Given the description of an element on the screen output the (x, y) to click on. 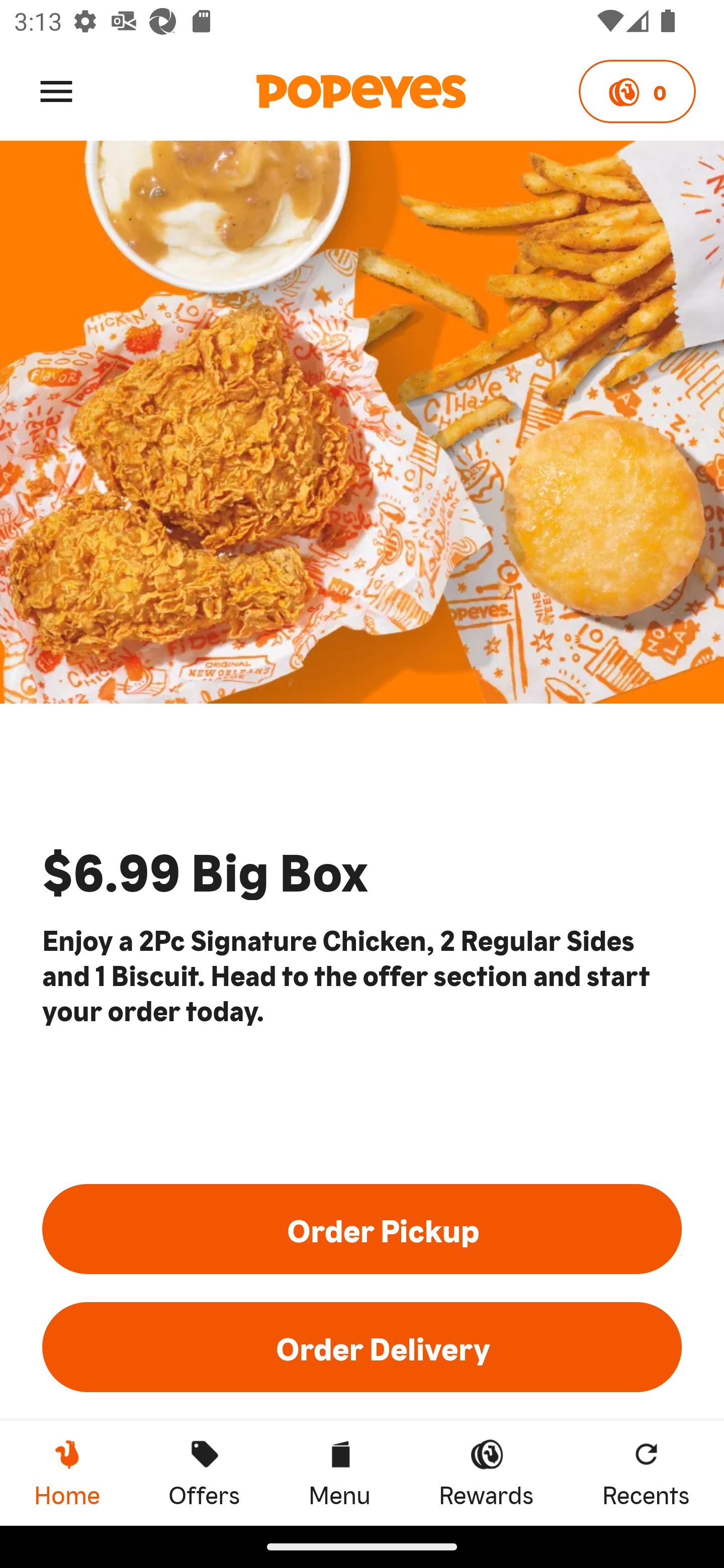
Menu  (56, 90)
0 Points 0 (636, 91)
Order Pickup (361, 1228)
Order Delivery (361, 1346)
Home, current page Home Home, current page (66, 1472)
Offers Offers Offers (203, 1472)
Menu Menu Menu (339, 1472)
Rewards Rewards Rewards (486, 1472)
Recents Recents Recents (646, 1472)
